Given the description of an element on the screen output the (x, y) to click on. 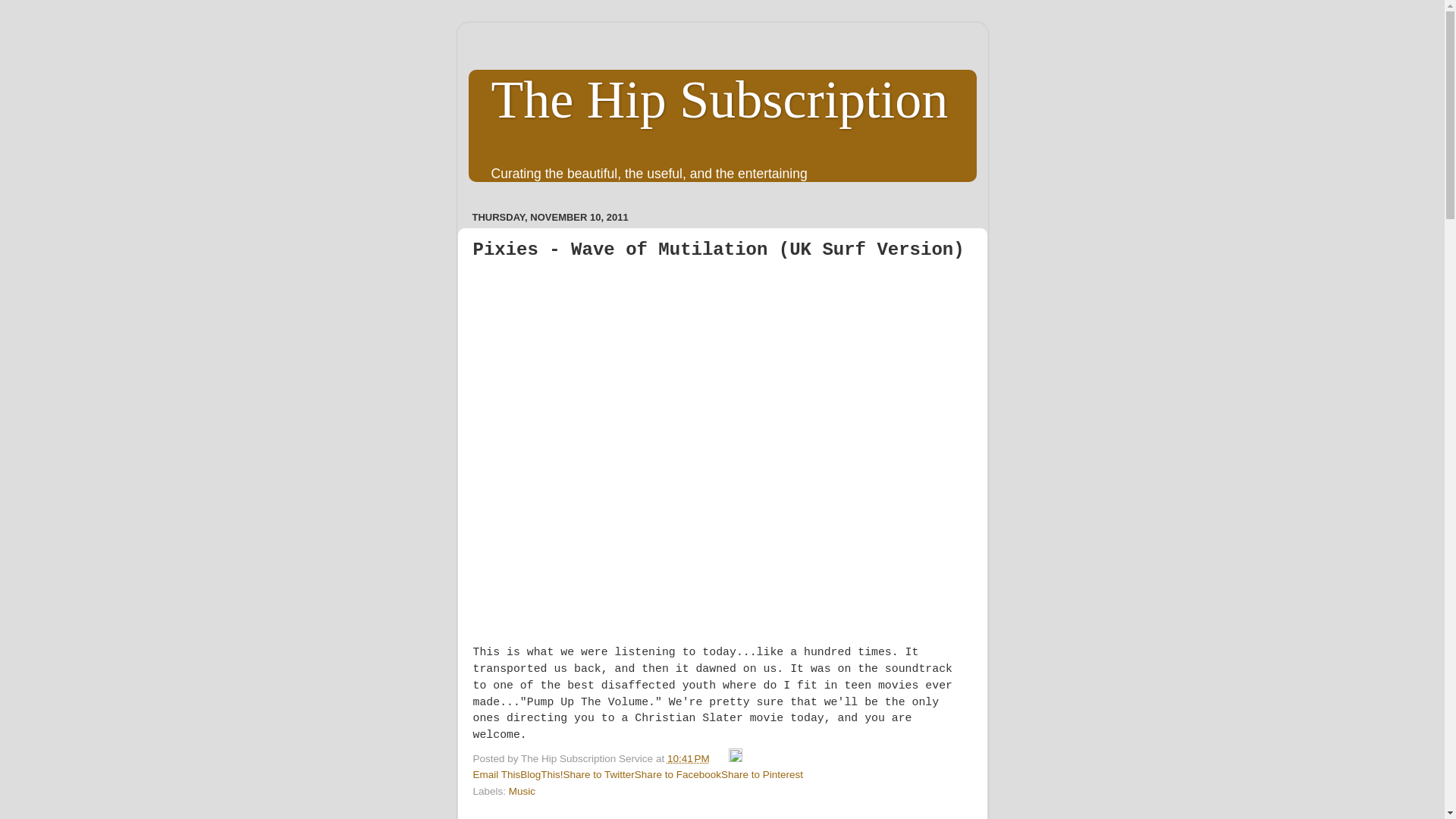
The Hip Subscription (720, 99)
Edit Post (735, 758)
Music (521, 790)
Share to Twitter (598, 774)
BlogThis! (540, 774)
permanent link (688, 758)
Share to Twitter (598, 774)
Email This (497, 774)
Email Post (721, 758)
Share to Facebook (677, 774)
Share to Pinterest (761, 774)
Email This (497, 774)
Share to Pinterest (761, 774)
BlogThis! (540, 774)
